Given the description of an element on the screen output the (x, y) to click on. 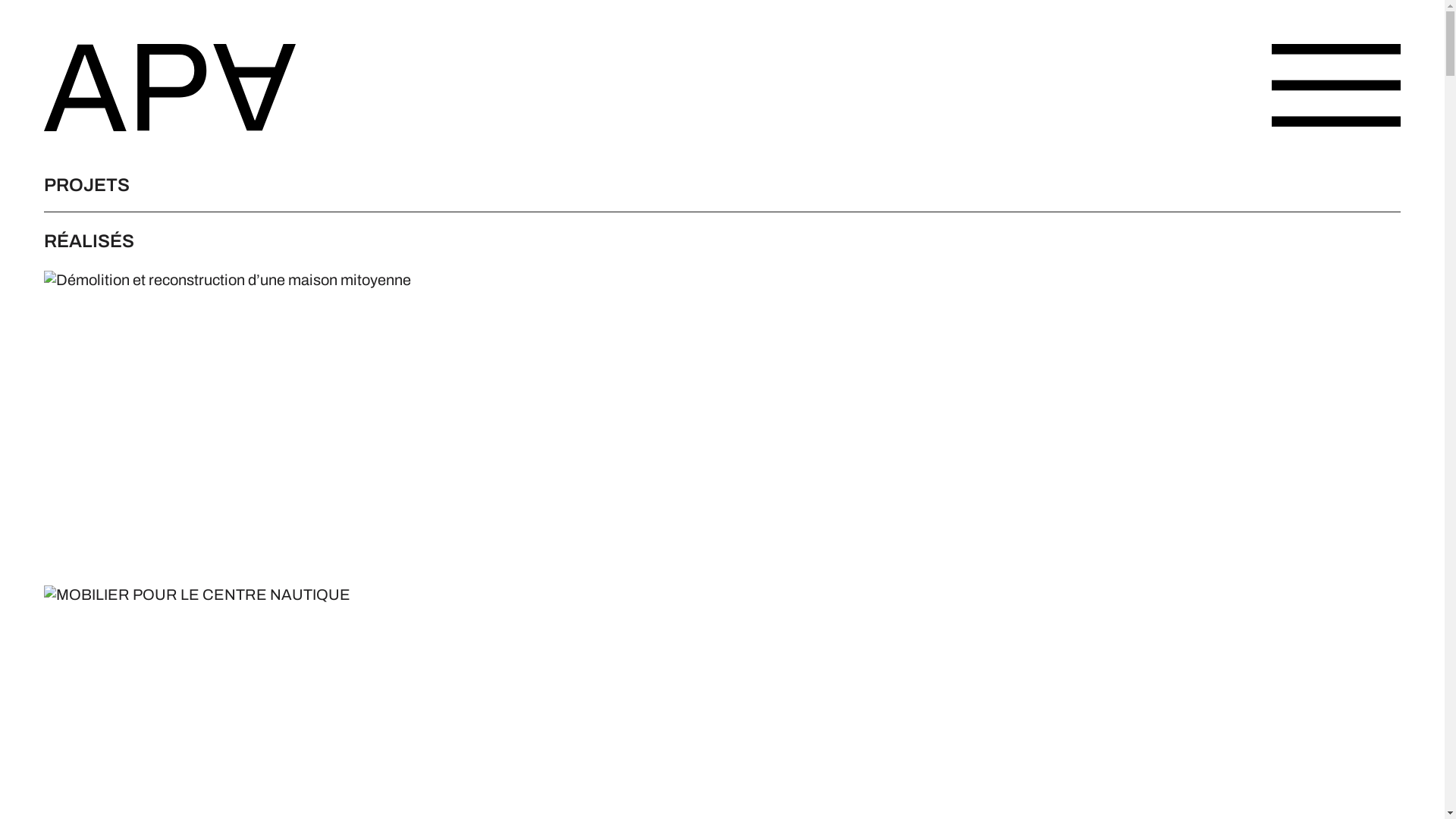
PROJETS Element type: text (86, 184)
